Given the description of an element on the screen output the (x, y) to click on. 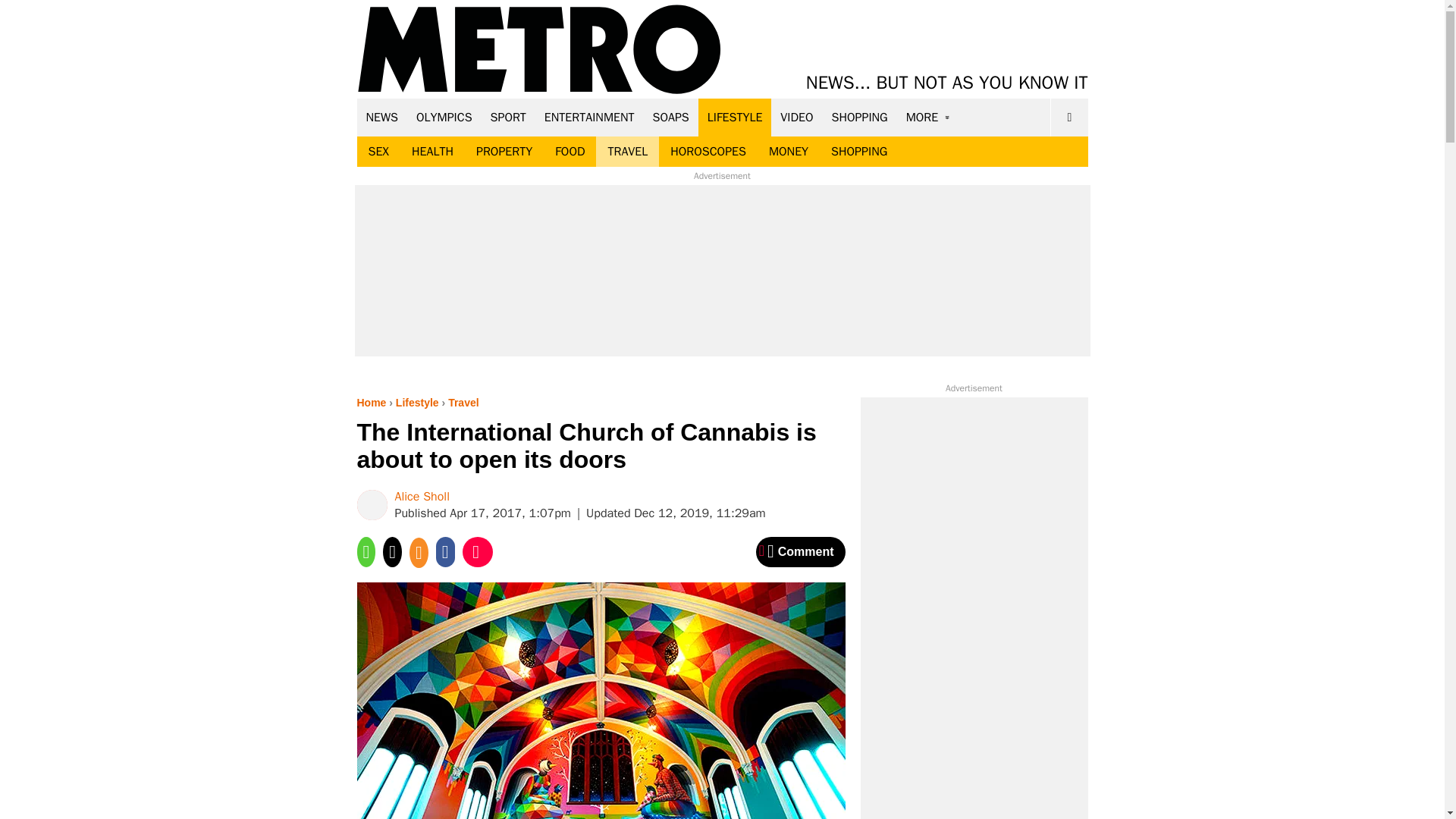
HEALTH (432, 151)
LIFESTYLE (734, 117)
FOOD (569, 151)
SOAPS (670, 117)
ENTERTAINMENT (589, 117)
OLYMPICS (444, 117)
SPORT (508, 117)
Metro (539, 50)
NEWS (381, 117)
PROPERTY (503, 151)
